Given the description of an element on the screen output the (x, y) to click on. 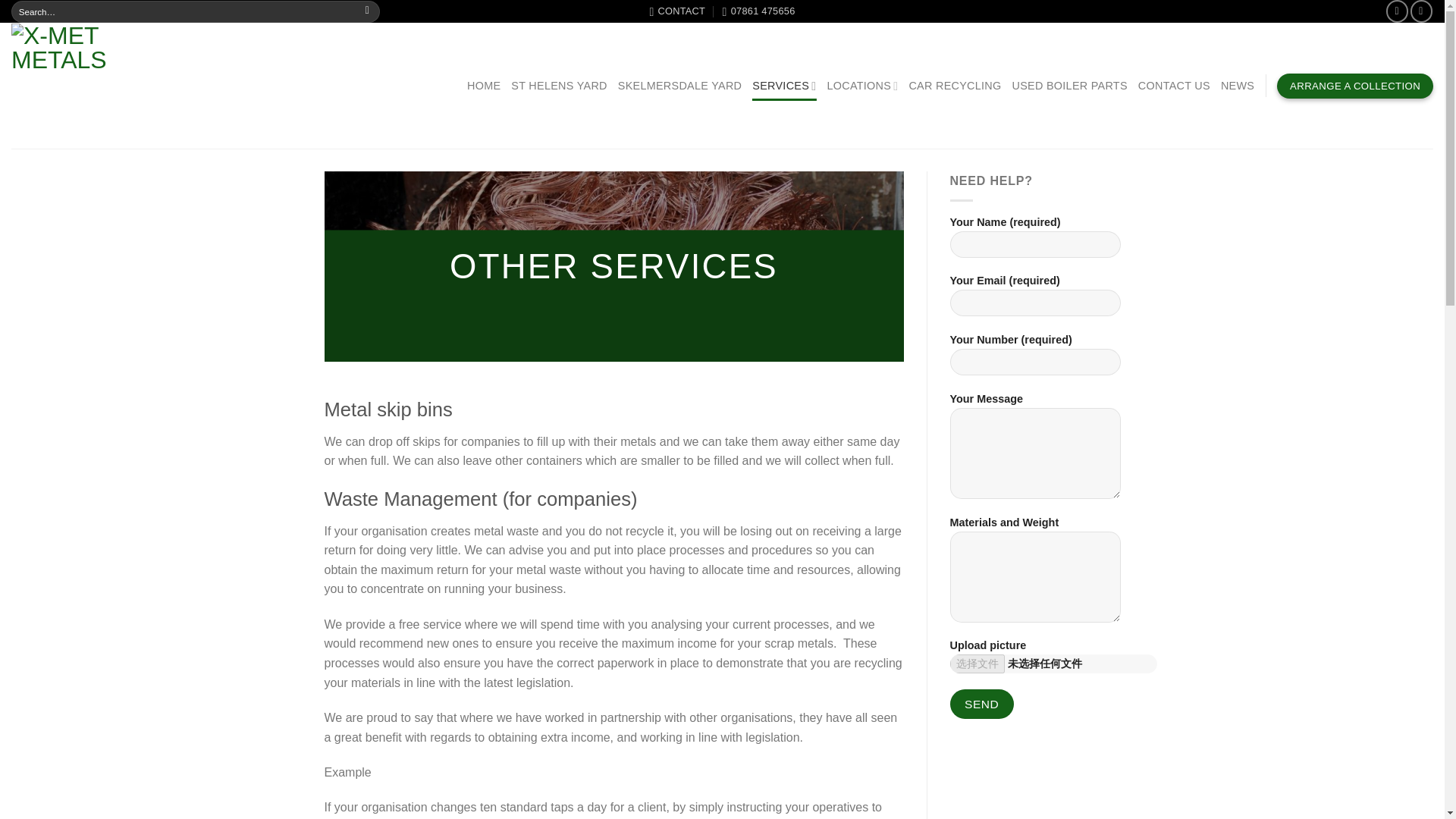
Follow on Facebook (1396, 11)
HOME (483, 85)
Follow on Twitter (1421, 11)
07861 475656 (758, 11)
07861 475656 (758, 11)
LOCATIONS (862, 85)
SKELMERSDALE YARD (679, 85)
Send (981, 704)
X-Met Metals (143, 85)
SERVICES (783, 85)
